Given the description of an element on the screen output the (x, y) to click on. 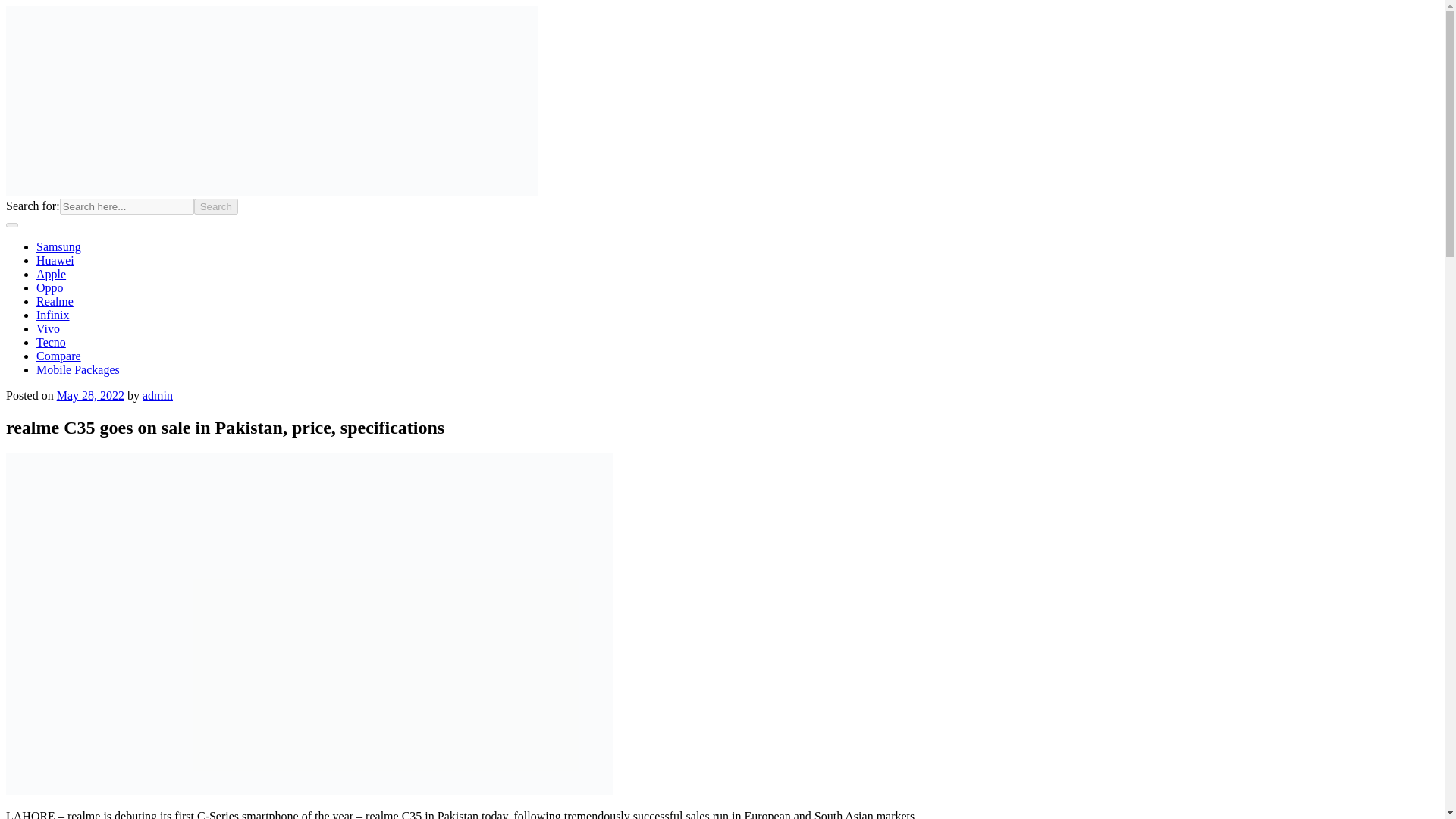
Search (215, 206)
Compare (58, 355)
Search (215, 206)
Infinix (52, 314)
May 28, 2022 (89, 395)
Mobile Packages (77, 369)
Realme (55, 300)
Apple (50, 273)
Samsung (58, 246)
Tecno (50, 341)
Vivo (47, 328)
Oppo (50, 287)
admin (157, 395)
Huawei (55, 259)
Search (215, 206)
